Given the description of an element on the screen output the (x, y) to click on. 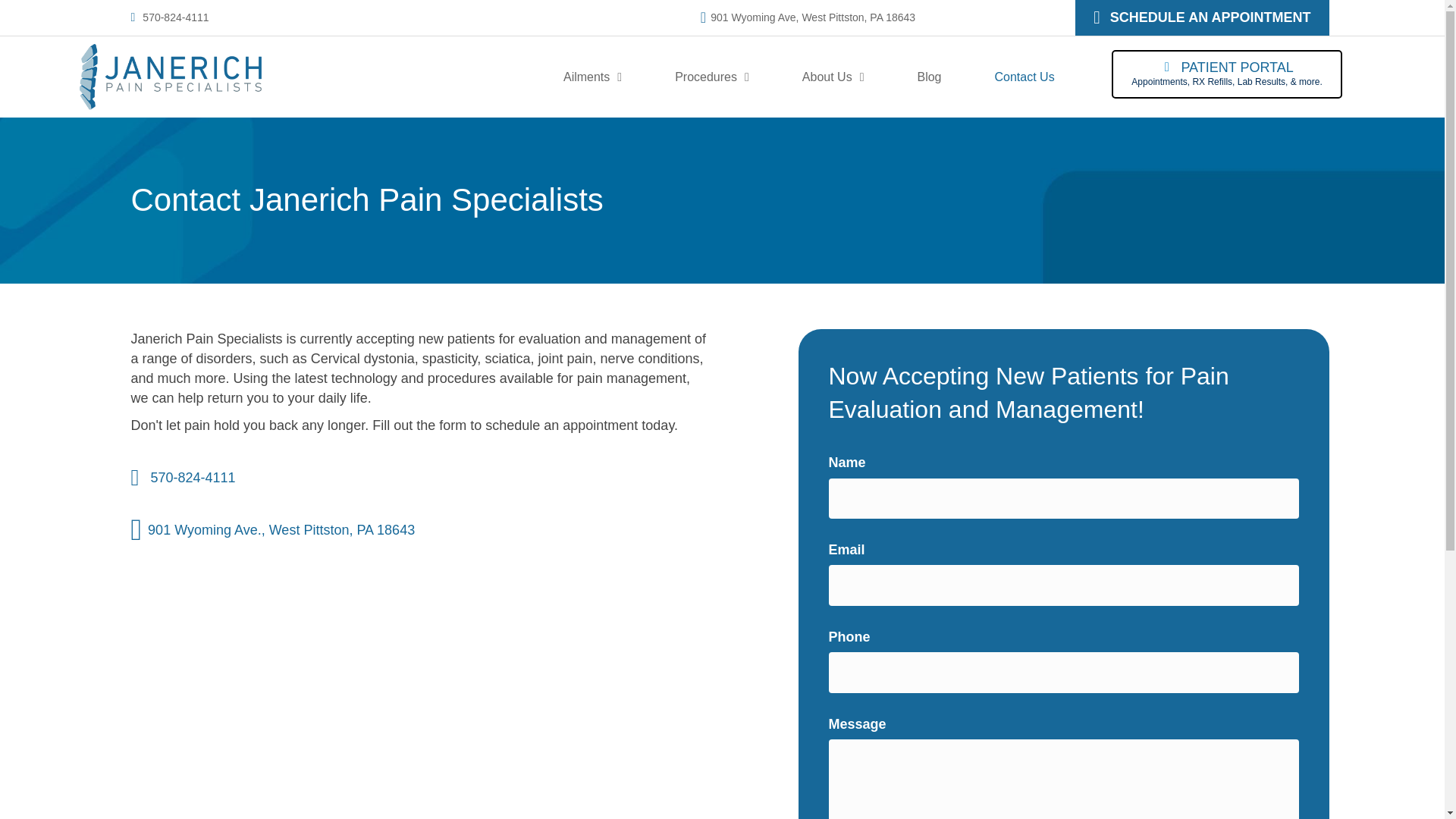
570-824-4111 (175, 17)
SCHEDULE AN APPOINTMENT (1201, 18)
Blog (928, 76)
901 Wyoming Ave, West Pittston, PA 18643 (812, 17)
Contact Us (1024, 76)
Ailments (592, 76)
About Us (832, 76)
logo-janerich-pain-specialists (169, 76)
Procedures (711, 76)
